Given the description of an element on the screen output the (x, y) to click on. 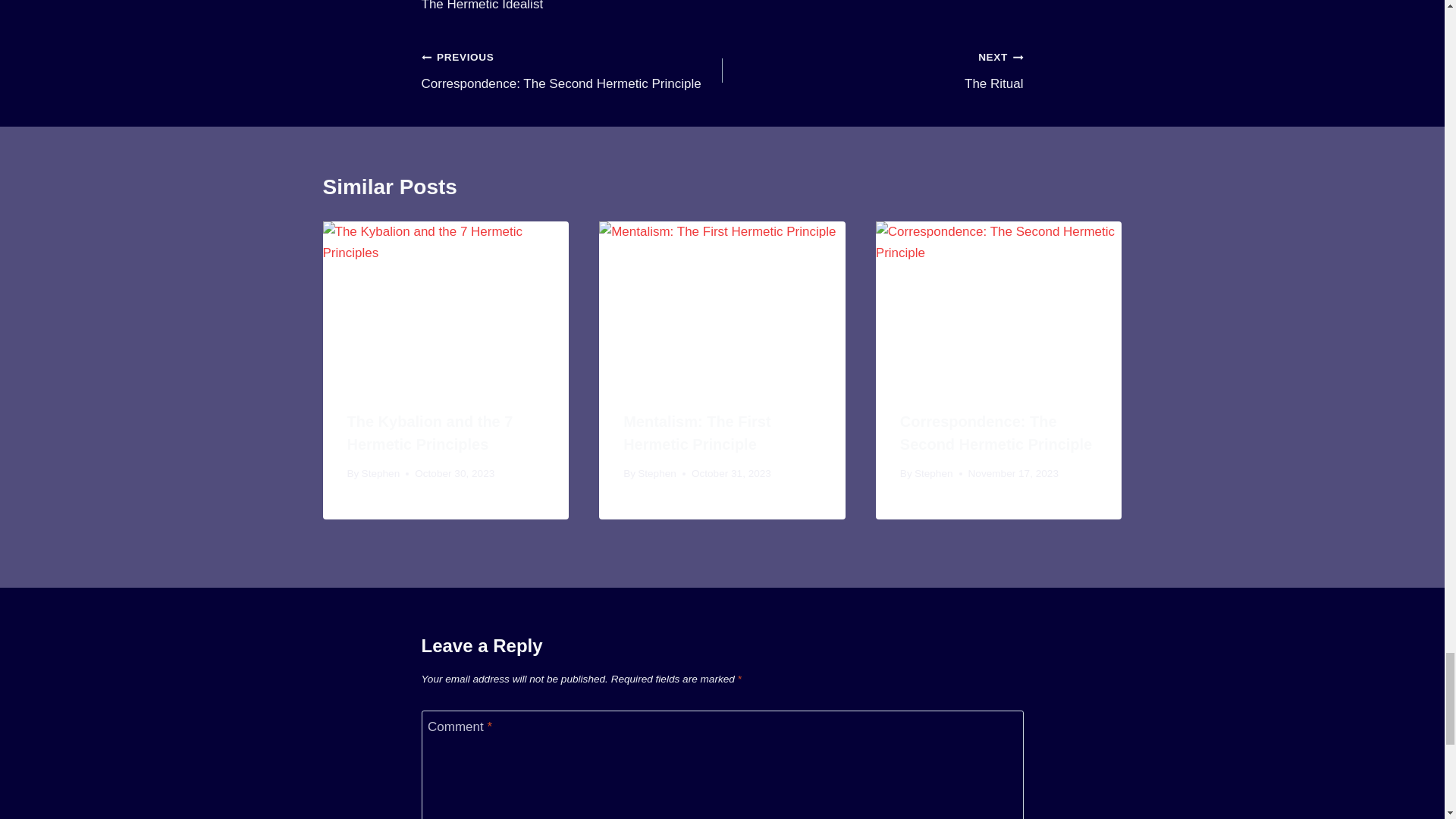
The Kybalion and the 7 Hermetic Principles (430, 432)
Mentalism: The First Hermetic Principle (696, 432)
Stephen (380, 473)
Stephen (657, 473)
Correspondence: The Second Hermetic Principle (572, 69)
Stephen (995, 432)
